Given the description of an element on the screen output the (x, y) to click on. 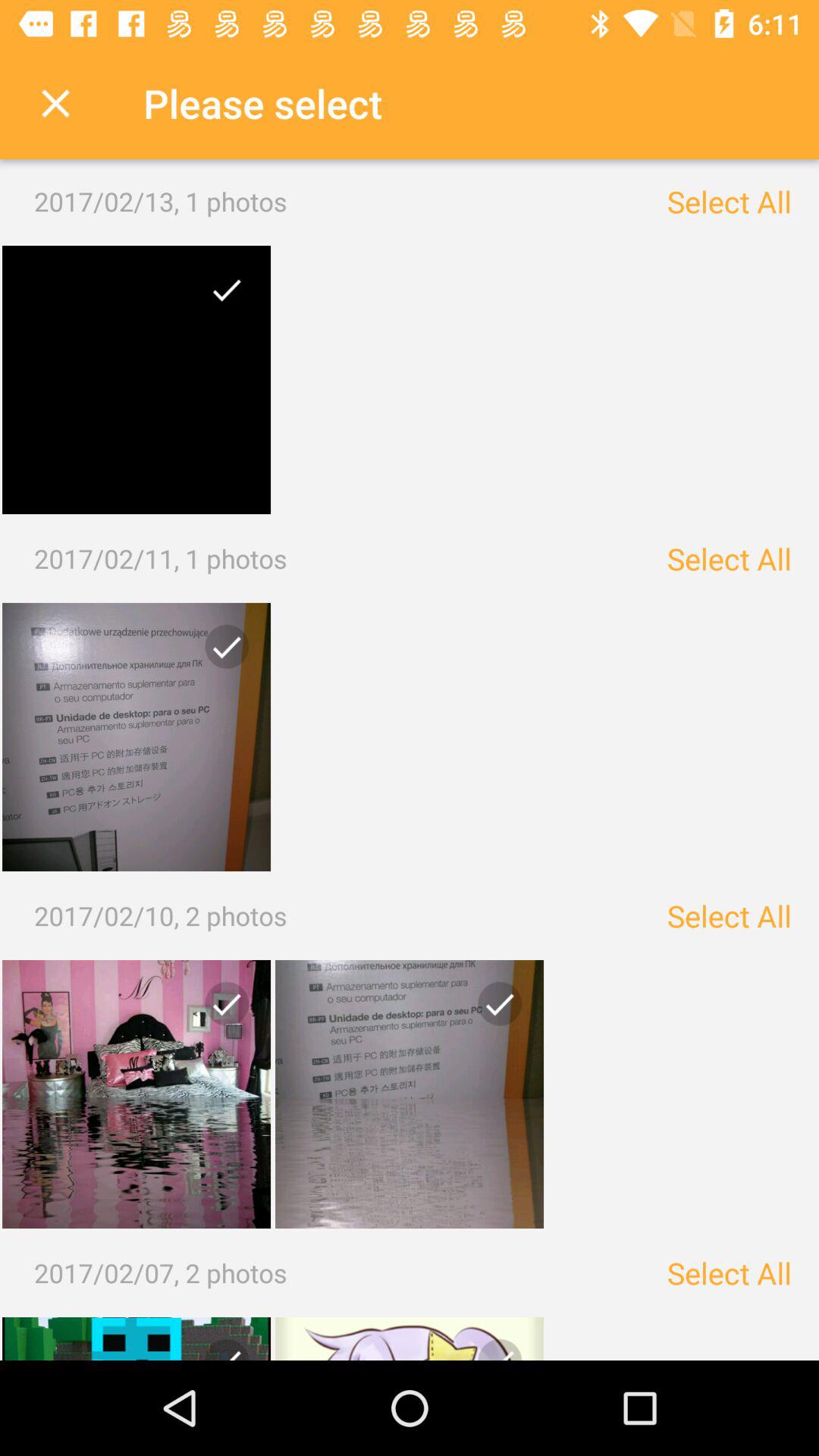
select image (409, 1338)
